Given the description of an element on the screen output the (x, y) to click on. 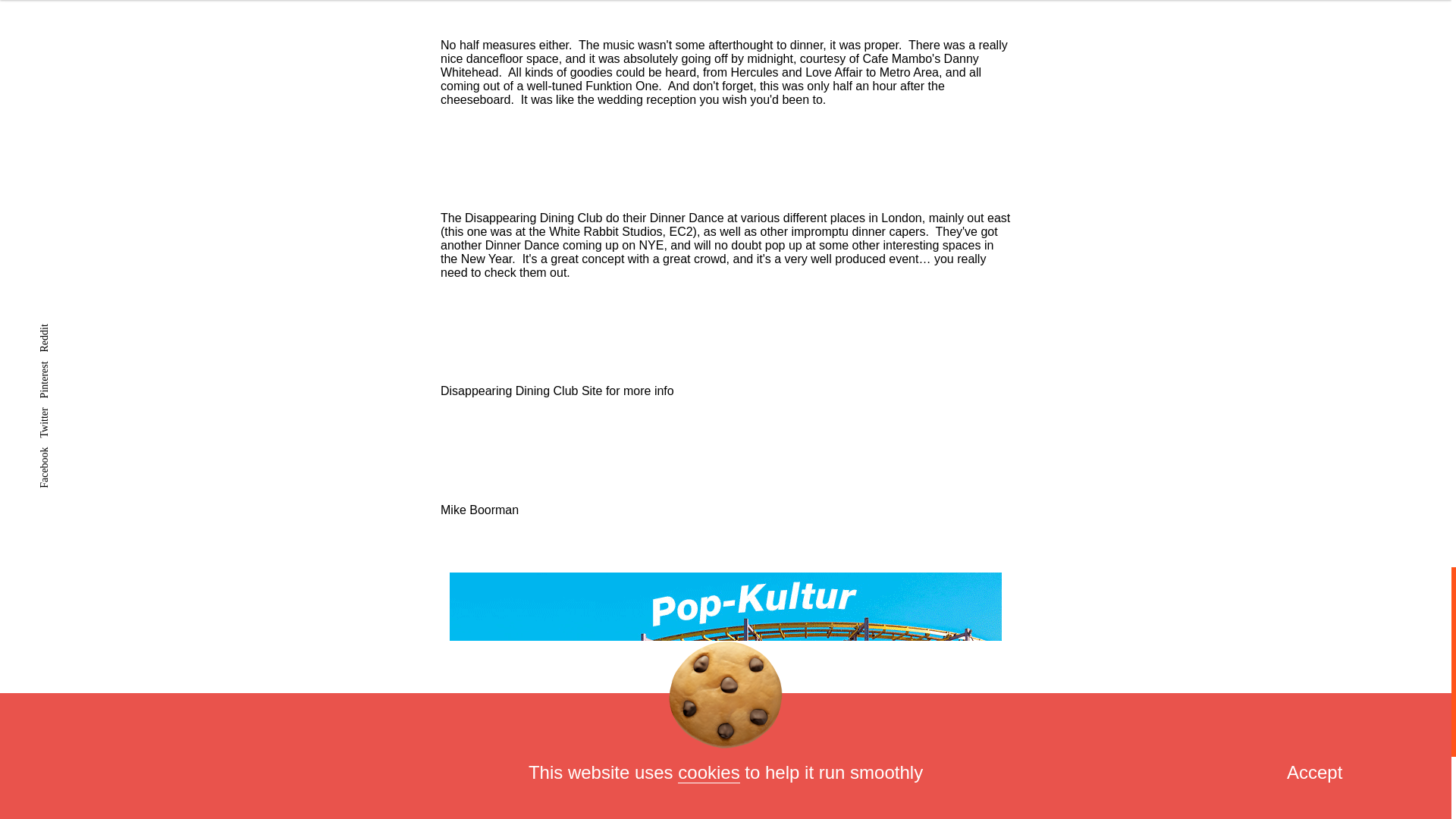
Music (366, 815)
Instagram (866, 816)
Mike Boorman (479, 509)
Facebook (962, 816)
Disappearing Dining Club Site for more info (557, 390)
Twitter (779, 816)
